Given the description of an element on the screen output the (x, y) to click on. 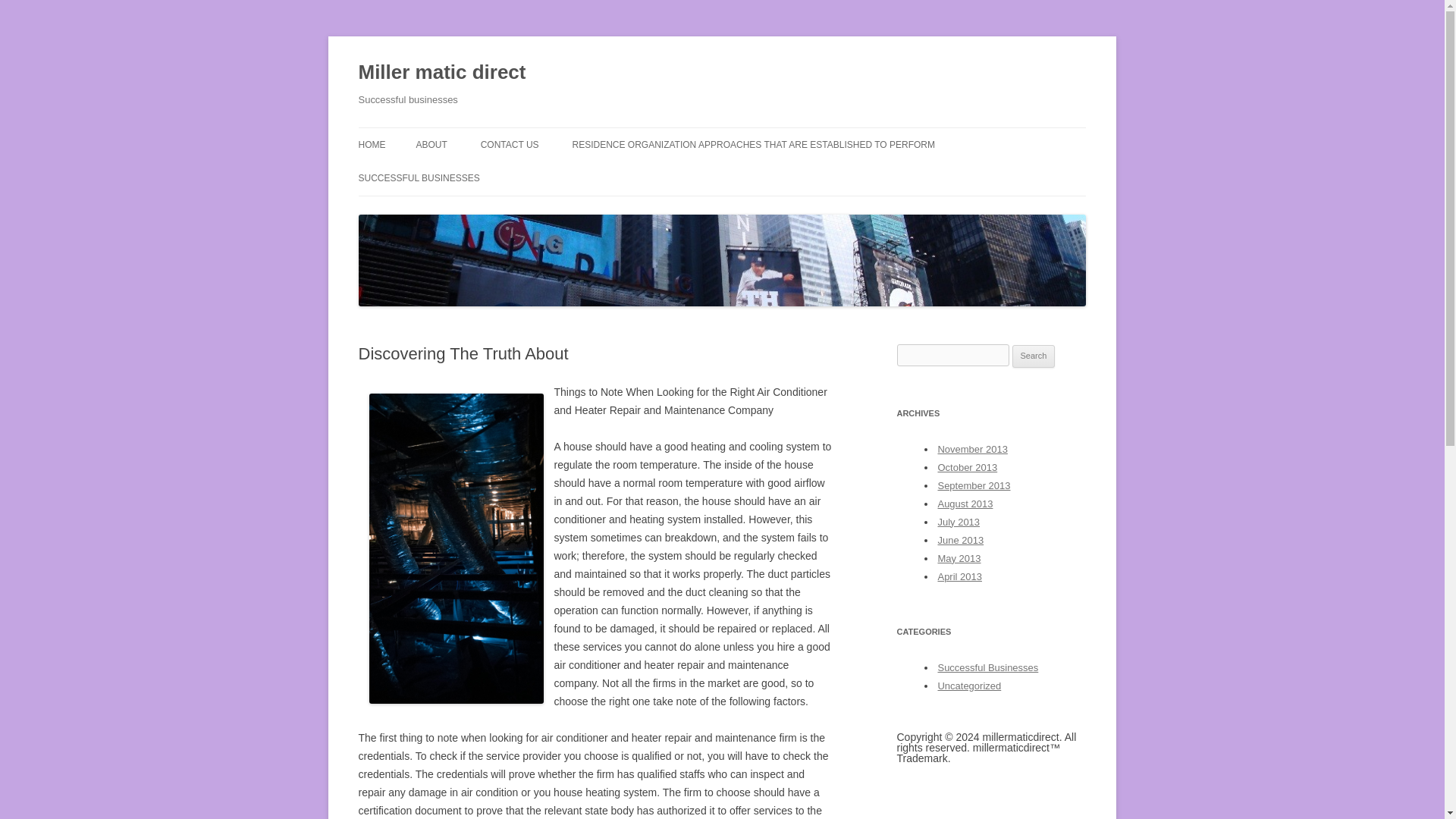
Successful Businesses (987, 667)
SUCCESSFUL BUSINESSES (418, 177)
September 2013 (973, 485)
Miller matic direct (441, 72)
May 2013 (958, 558)
Search (1033, 355)
Uncategorized (969, 685)
June 2013 (960, 540)
August 2013 (964, 503)
